Given the description of an element on the screen output the (x, y) to click on. 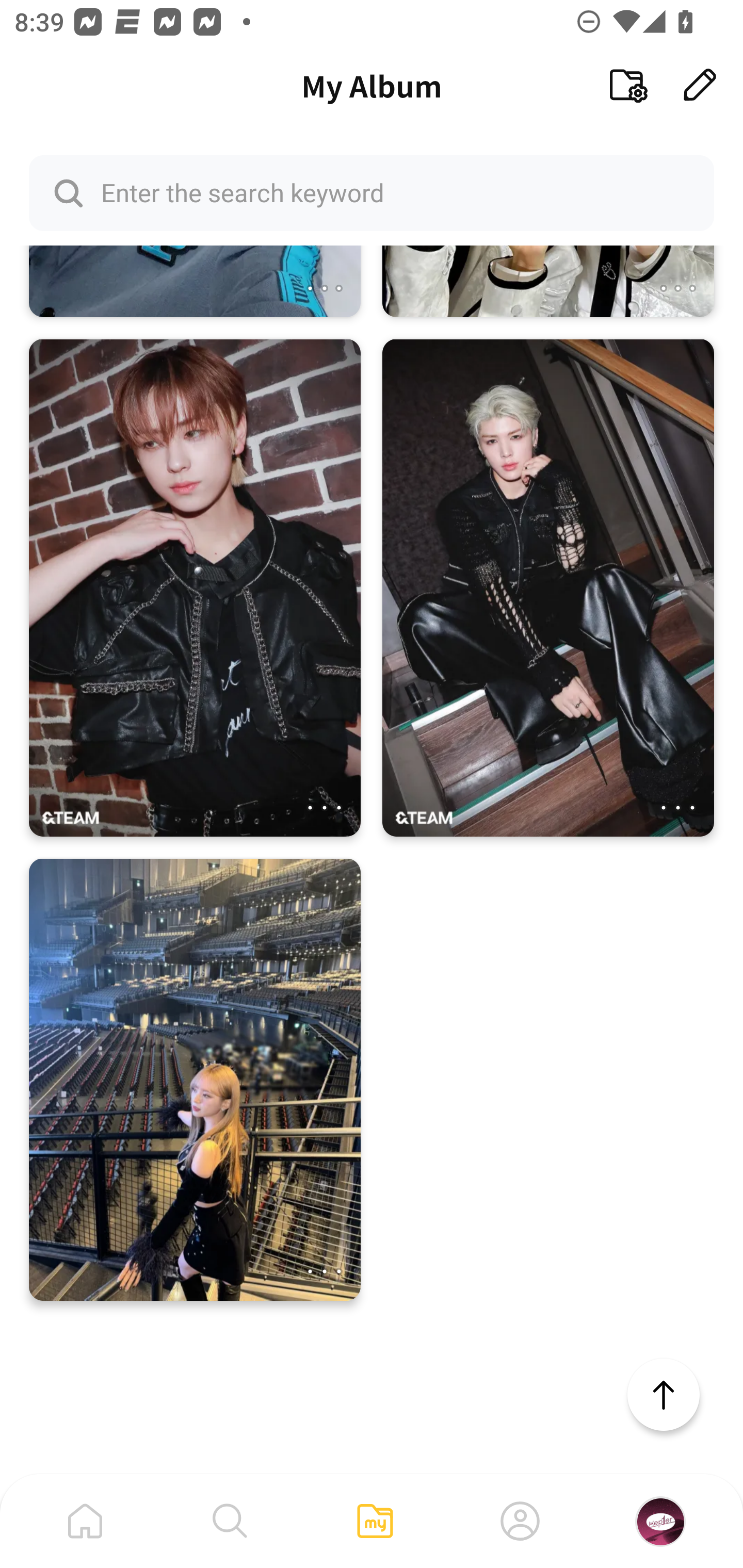
Enter the search keyword (371, 192)
